Given the description of an element on the screen output the (x, y) to click on. 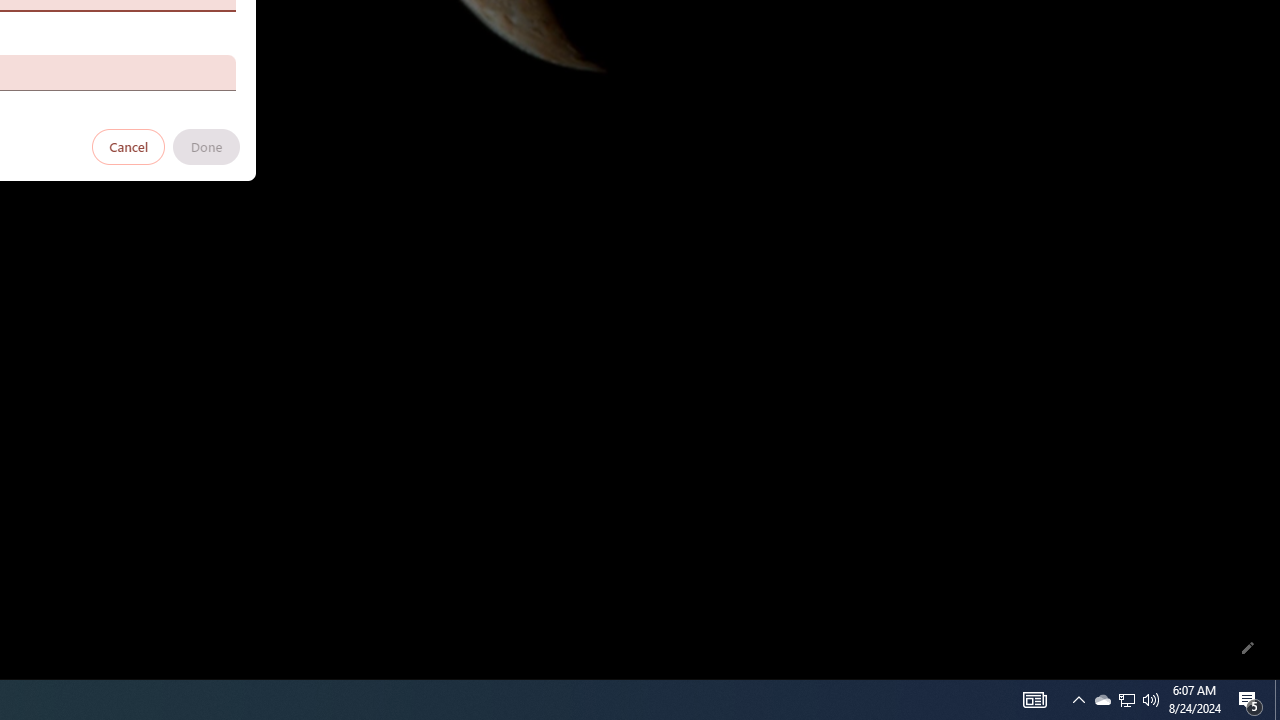
Done (206, 146)
Cancel (129, 146)
